Given the description of an element on the screen output the (x, y) to click on. 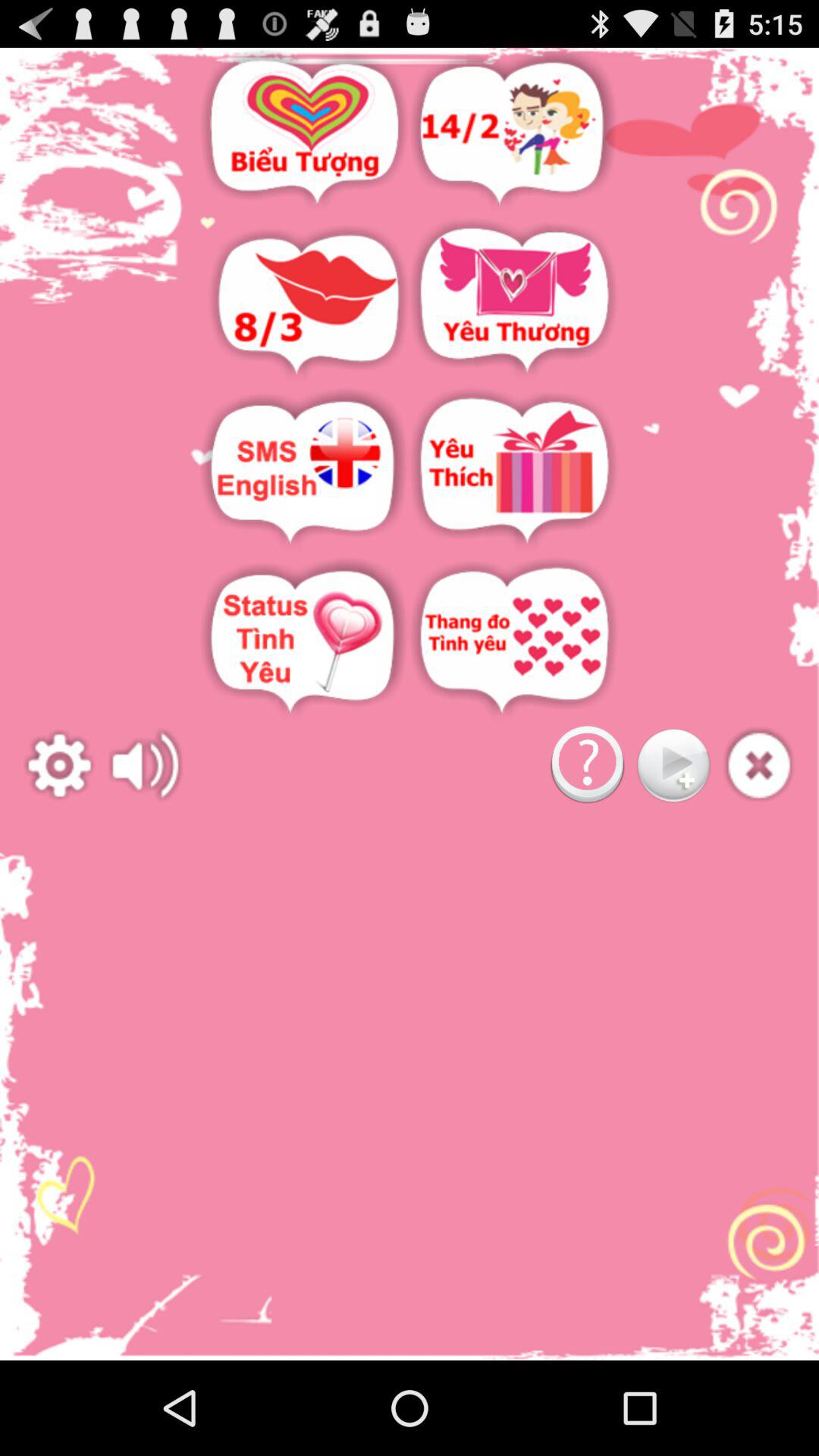
it is a play key (673, 765)
